Given the description of an element on the screen output the (x, y) to click on. 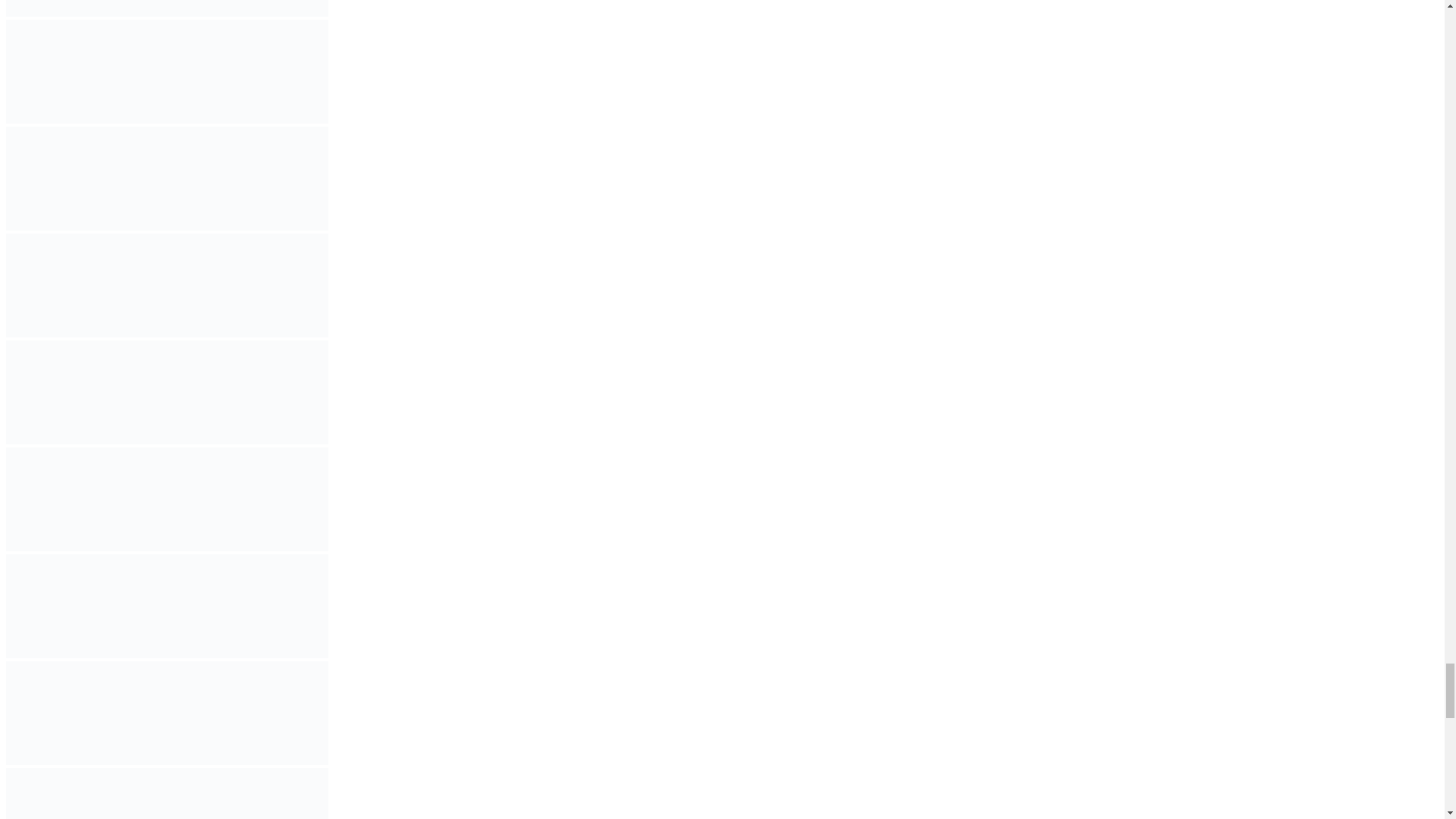
SAMSUNG (167, 178)
ESPON (167, 11)
INNOVA (167, 119)
CITIZEN (167, 332)
INNOVA (167, 71)
ESPON (167, 8)
SAMSUNG (167, 226)
